Given the description of an element on the screen output the (x, y) to click on. 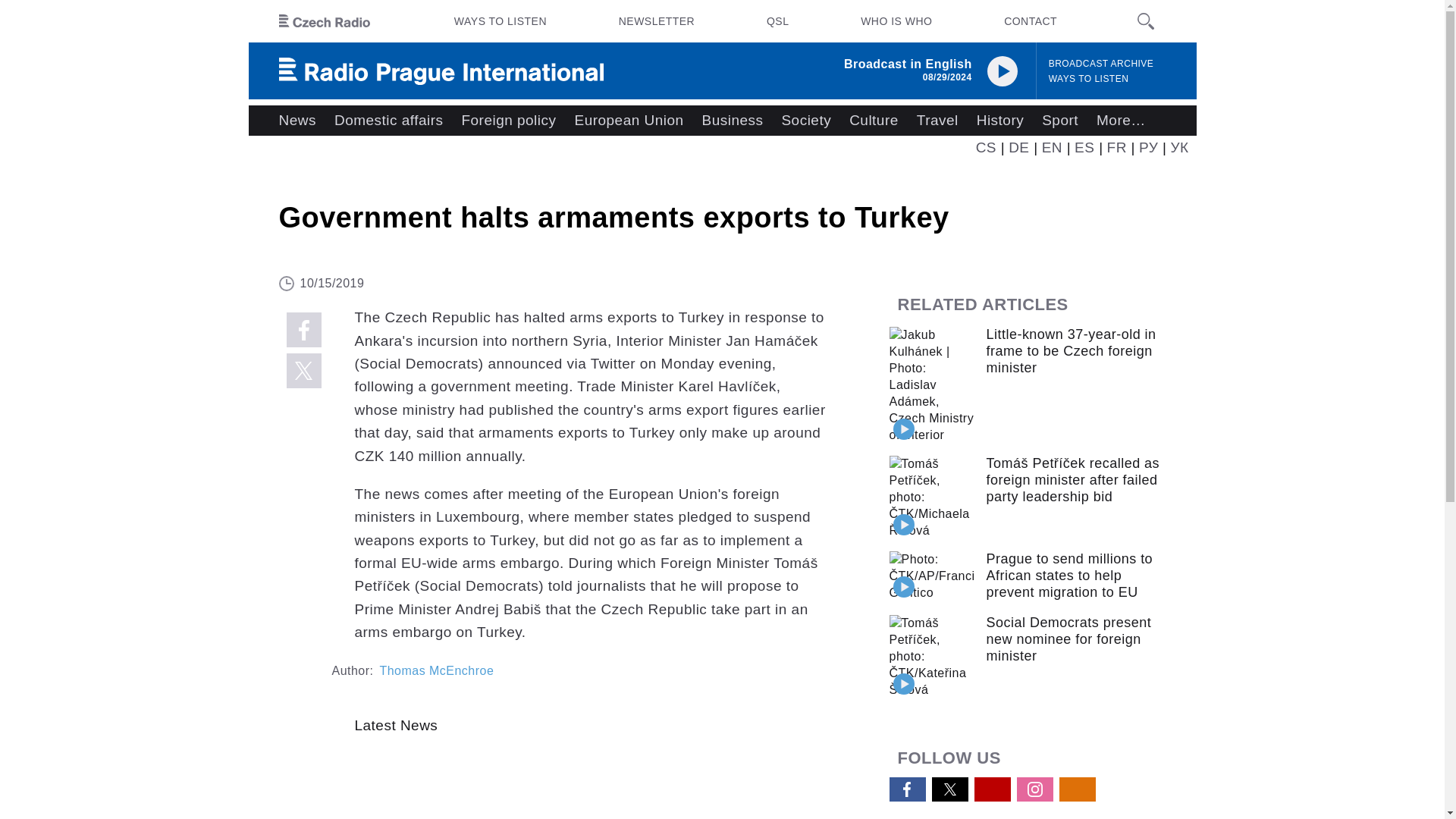
News (296, 120)
Domestic affairs (388, 120)
Society (805, 120)
CONTACT (1029, 21)
Czech Radio (324, 21)
European Union (628, 120)
WAYS TO LISTEN (500, 21)
Broadcast in English  (908, 63)
FR (1116, 147)
ES (1084, 147)
